Given the description of an element on the screen output the (x, y) to click on. 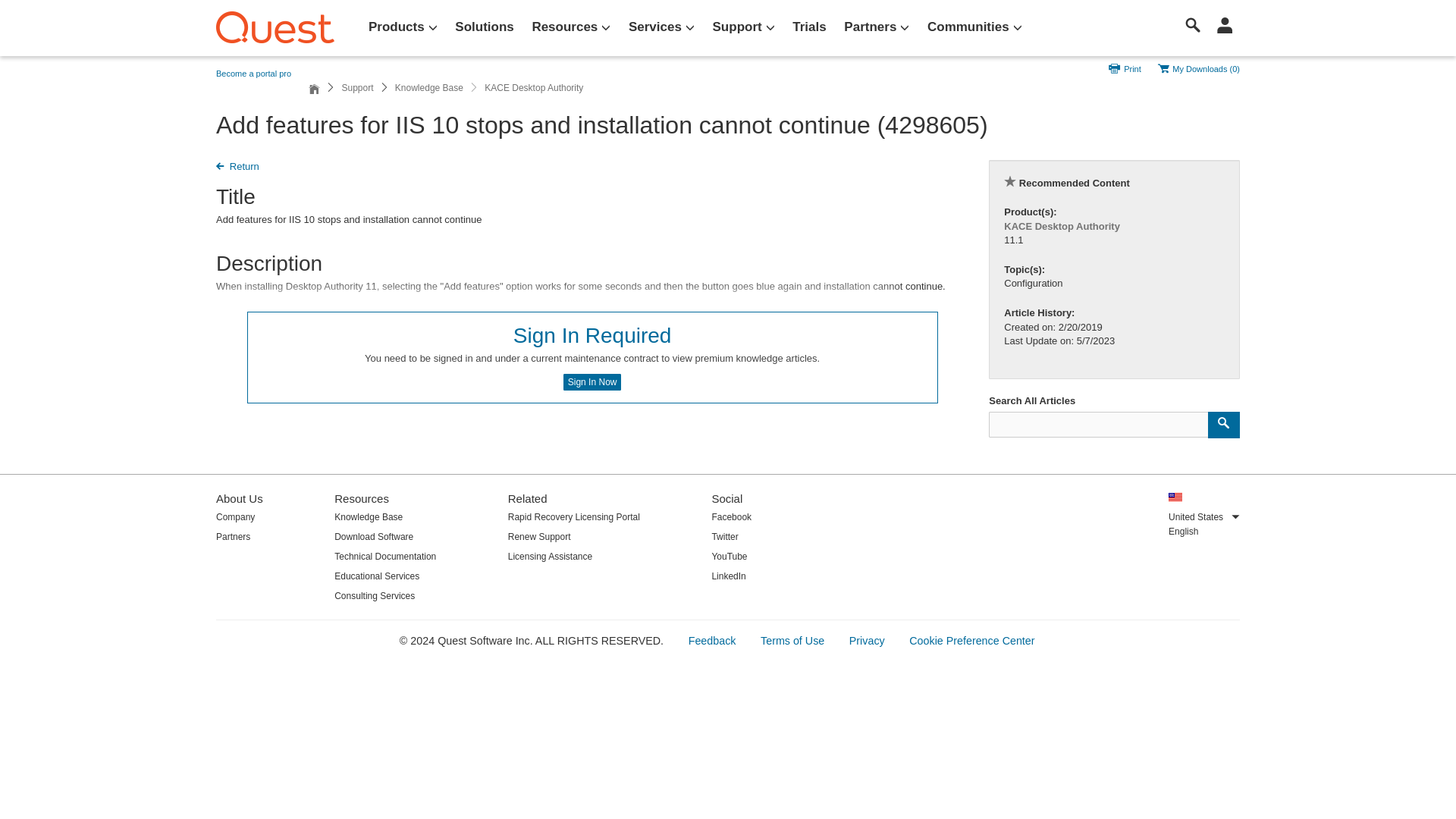
Products (403, 27)
Resources (570, 27)
Solutions (483, 27)
United States web site version is selected (1175, 497)
